Given the description of an element on the screen output the (x, y) to click on. 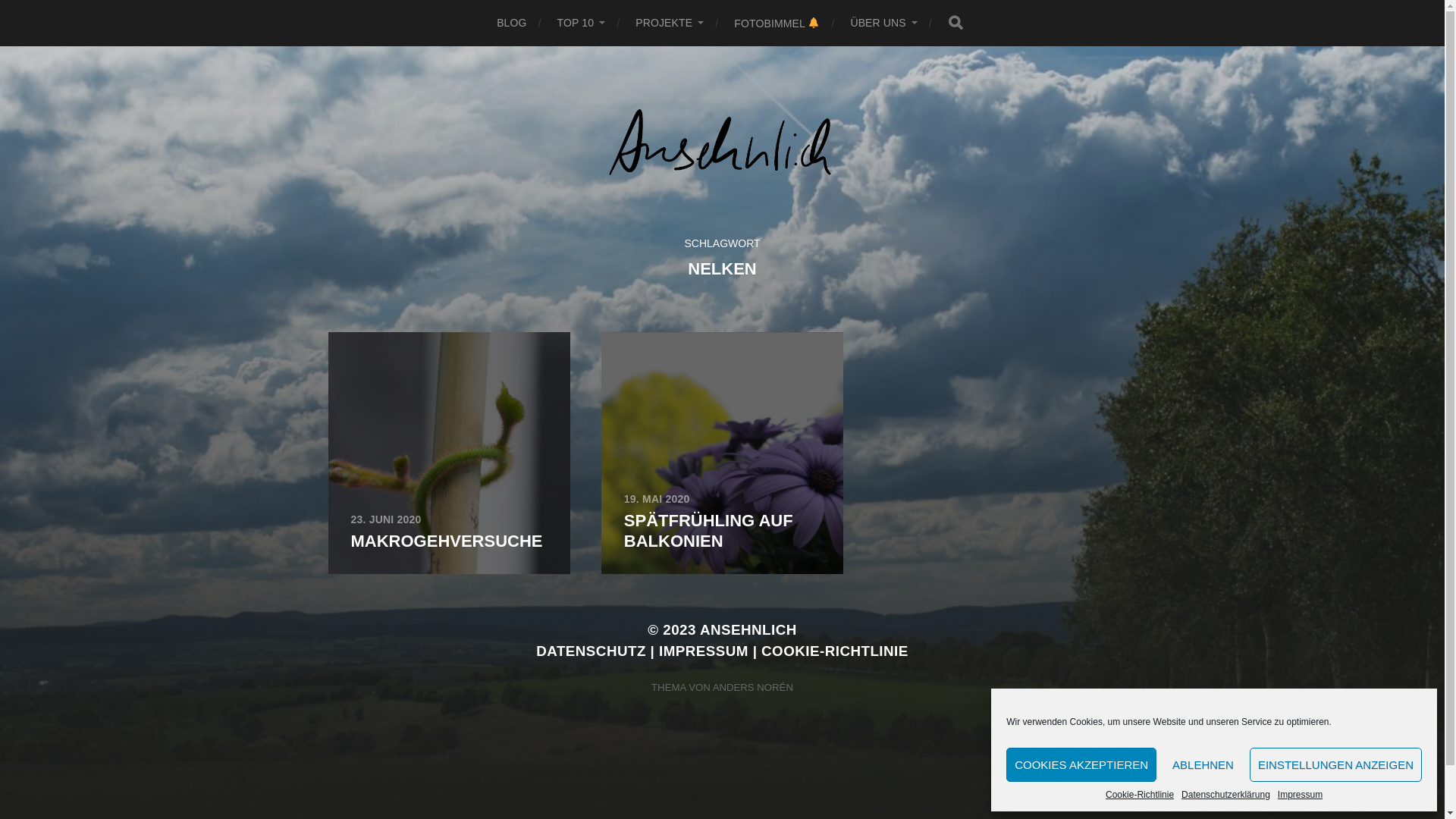
23. JUNI 2020
MAKROGEHVERSUCHE Element type: text (448, 453)
ABLEHNEN Element type: text (1203, 764)
PROJEKTE Element type: text (669, 22)
BLOG Element type: text (511, 22)
COOKIES AKZEPTIEREN Element type: text (1081, 764)
Cookie-Richtlinie Element type: text (1139, 794)
IMPRESSUM Element type: text (703, 650)
ANSEHNLICH Element type: text (748, 629)
TOP 10 Element type: text (581, 22)
DATENSCHUTZ Element type: text (591, 650)
Impressum Element type: text (1299, 794)
EINSTELLUNGEN ANZEIGEN Element type: text (1335, 764)
FOTOBIMMEL Element type: text (776, 23)
COOKIE-RICHTLINIE Element type: text (834, 650)
